Given the description of an element on the screen output the (x, y) to click on. 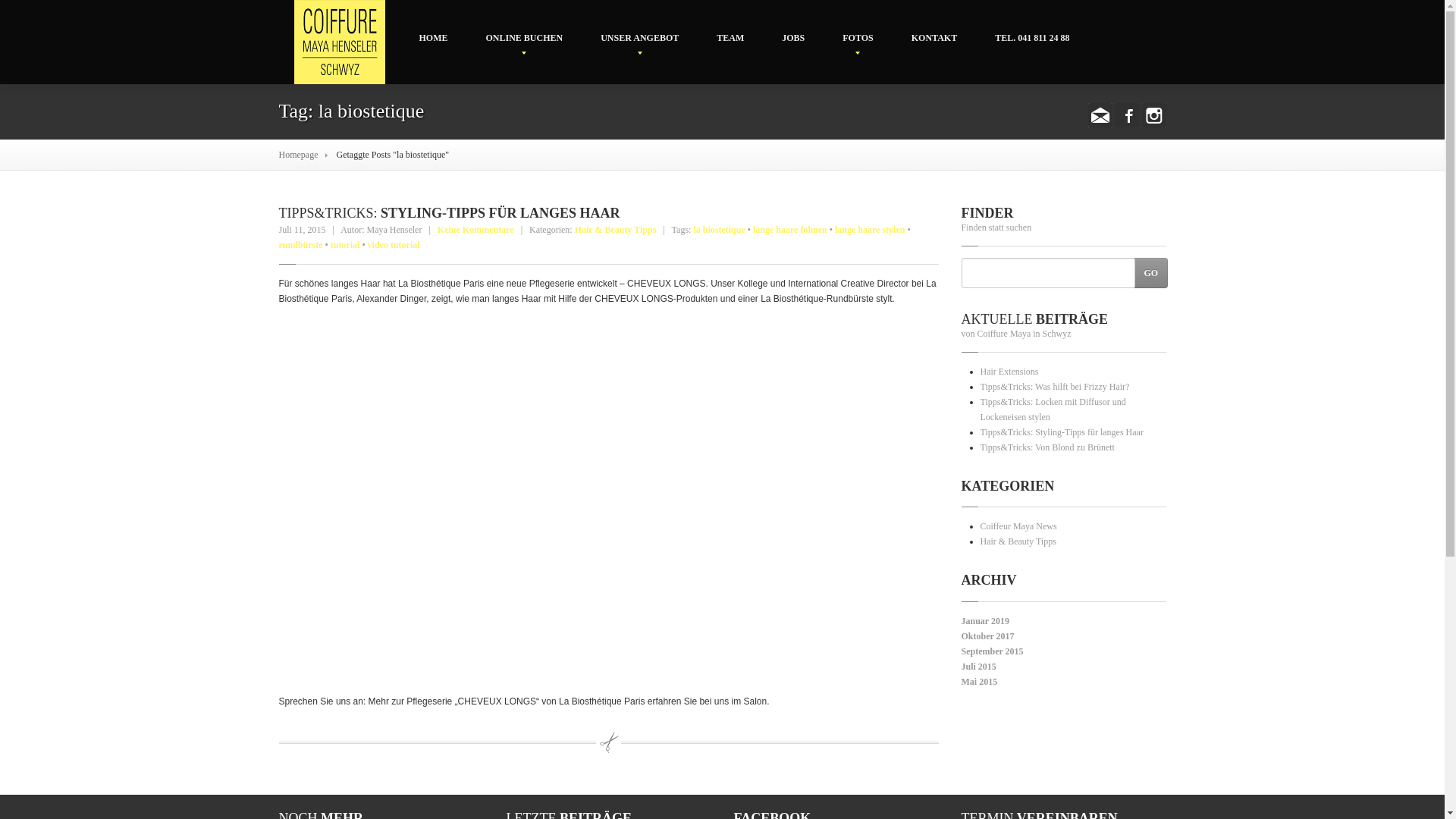
JOBS Element type: text (792, 37)
Tipps&Tricks: Was hilft bei Frizzy Hair? Element type: text (1054, 386)
Homepage Element type: text (298, 154)
ONLINE BUCHEN Element type: text (524, 37)
FOTOS Element type: text (857, 37)
Tipps&Tricks: Locken mit Diffusor und Lockeneisen stylen Element type: text (1052, 409)
Januar 2019 Element type: text (985, 620)
UNSER ANGEBOT Element type: text (639, 37)
Keine Kommentare Element type: text (475, 229)
GO Element type: text (1151, 272)
Juli 2015 Element type: text (978, 666)
Hair & Beauty Tipps Element type: text (1017, 541)
Hair Extensions Element type: text (1008, 371)
tutorial Element type: text (345, 244)
la biostetique Element type: text (718, 229)
Mai 2015 Element type: text (979, 681)
video tutorial Element type: text (393, 244)
Oktober 2017 Element type: text (987, 635)
September 2015 Element type: text (992, 651)
Coiffeur Maya News Element type: text (1017, 525)
lange haare stylen Element type: text (869, 229)
Hair & Beauty Tipps Element type: text (615, 229)
KONTAKT Element type: text (933, 37)
TEAM Element type: text (729, 37)
HOME Element type: text (433, 37)
TEL. 041 811 24 88 Element type: text (1031, 37)
